Given the description of an element on the screen output the (x, y) to click on. 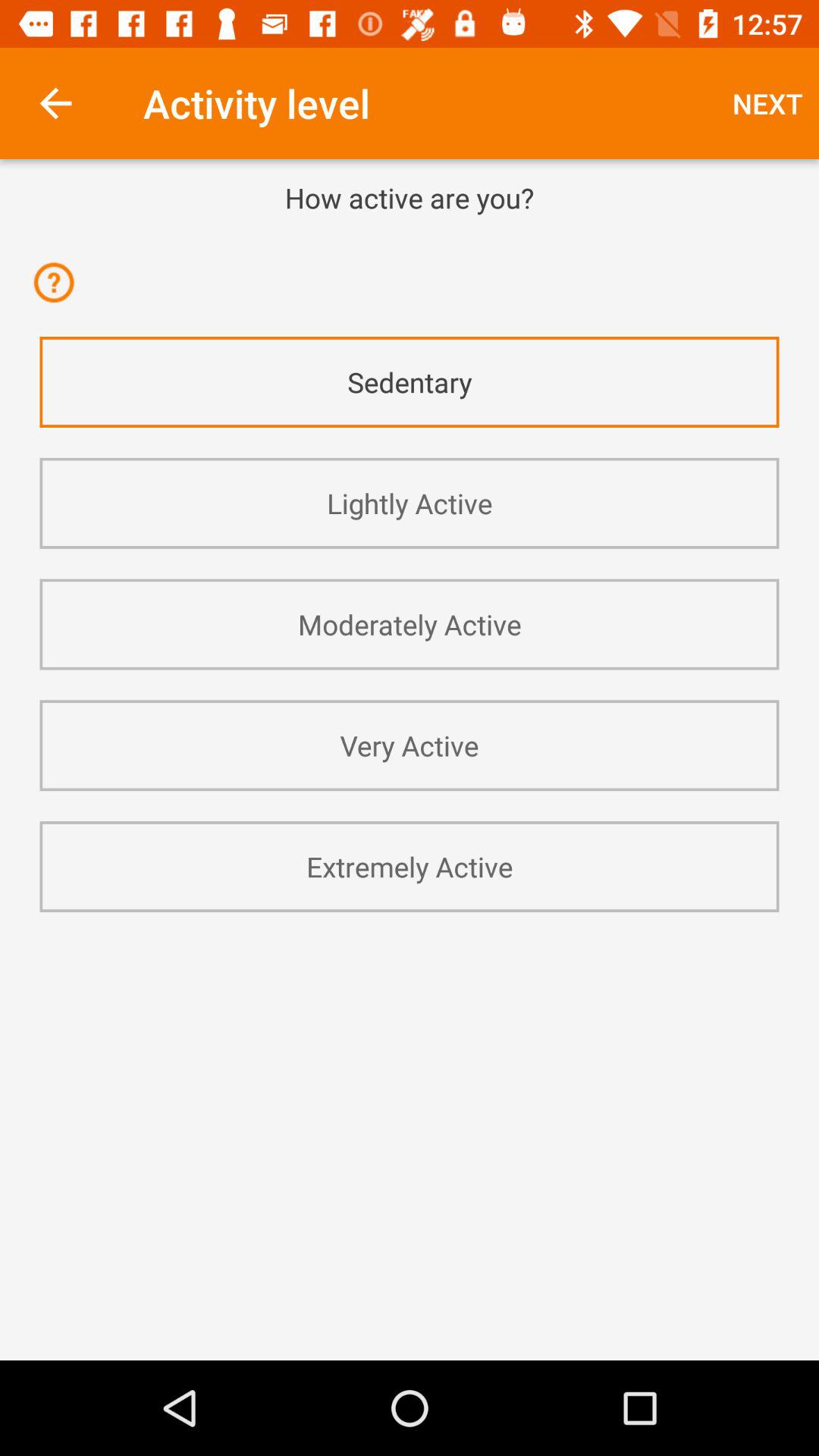
flip until next item (767, 103)
